Given the description of an element on the screen output the (x, y) to click on. 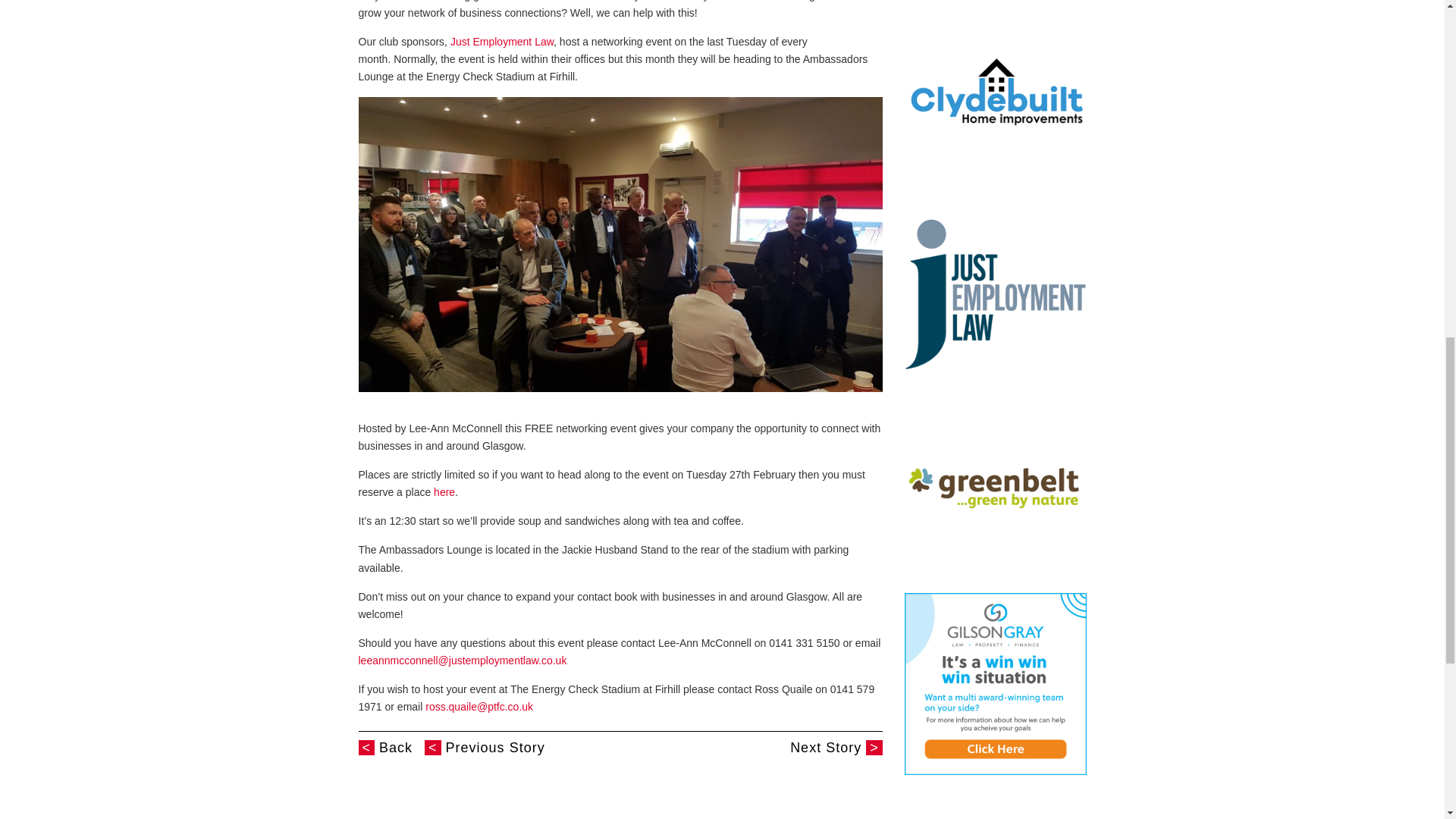
here (443, 491)
Just Employment Law (501, 41)
